Given the description of an element on the screen output the (x, y) to click on. 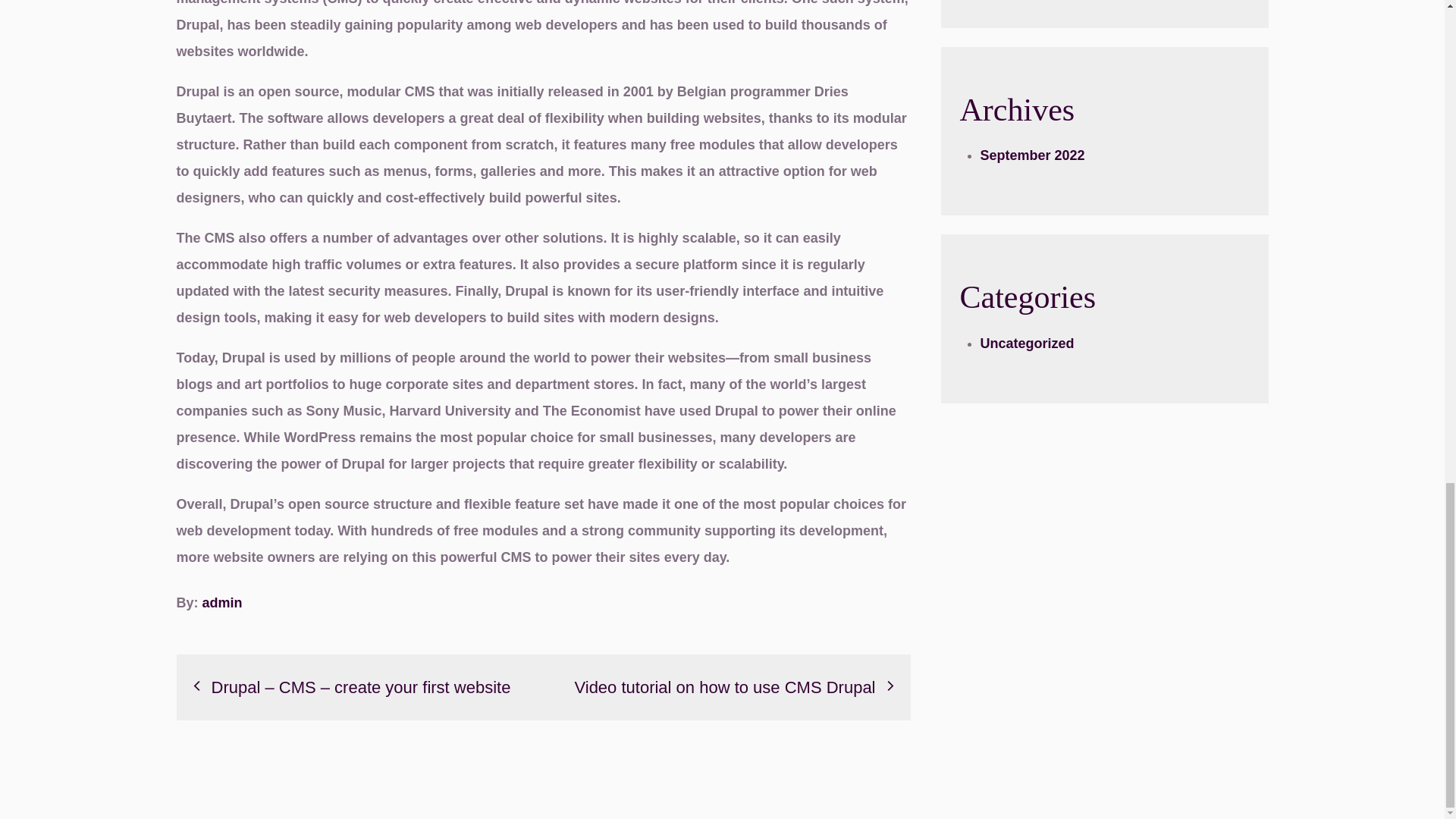
September 2022 (1031, 155)
Uncategorized (1026, 343)
admin (222, 602)
